Given the description of an element on the screen output the (x, y) to click on. 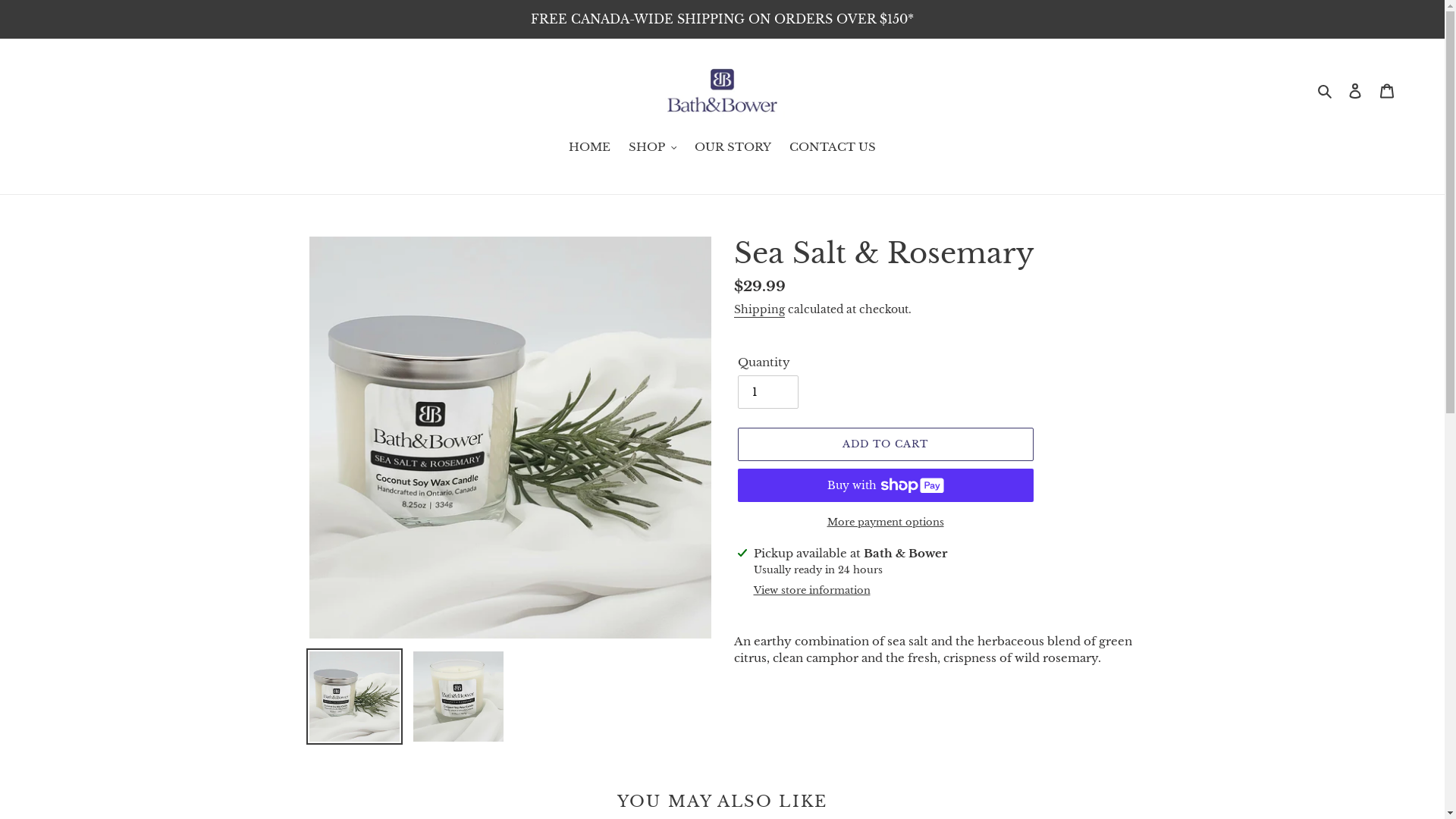
SHOP Element type: text (652, 148)
Search Element type: text (1325, 90)
CONTACT US Element type: text (832, 148)
More payment options Element type: text (884, 522)
FREE CANADA-WIDE SHIPPING ON ORDERS OVER $150* Element type: text (722, 18)
Log in Element type: text (1355, 90)
Cart Element type: text (1386, 90)
View store information Element type: text (811, 590)
OUR STORY Element type: text (732, 148)
HOME Element type: text (589, 148)
ADD TO CART Element type: text (884, 444)
Shipping Element type: text (759, 309)
